Given the description of an element on the screen output the (x, y) to click on. 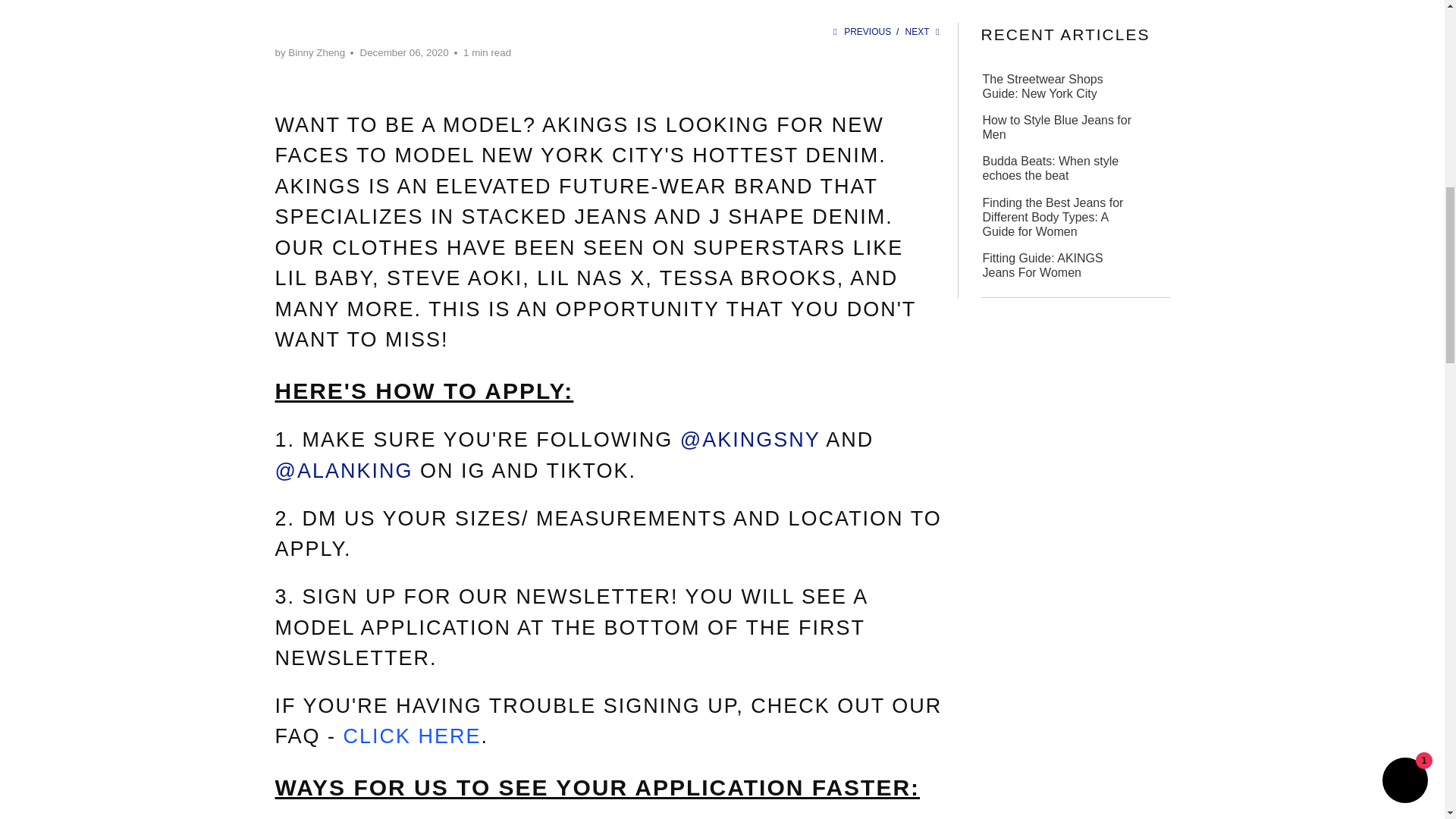
The Streetwear Shops Guide: New York City (1056, 85)
model application faq (412, 735)
